Given the description of an element on the screen output the (x, y) to click on. 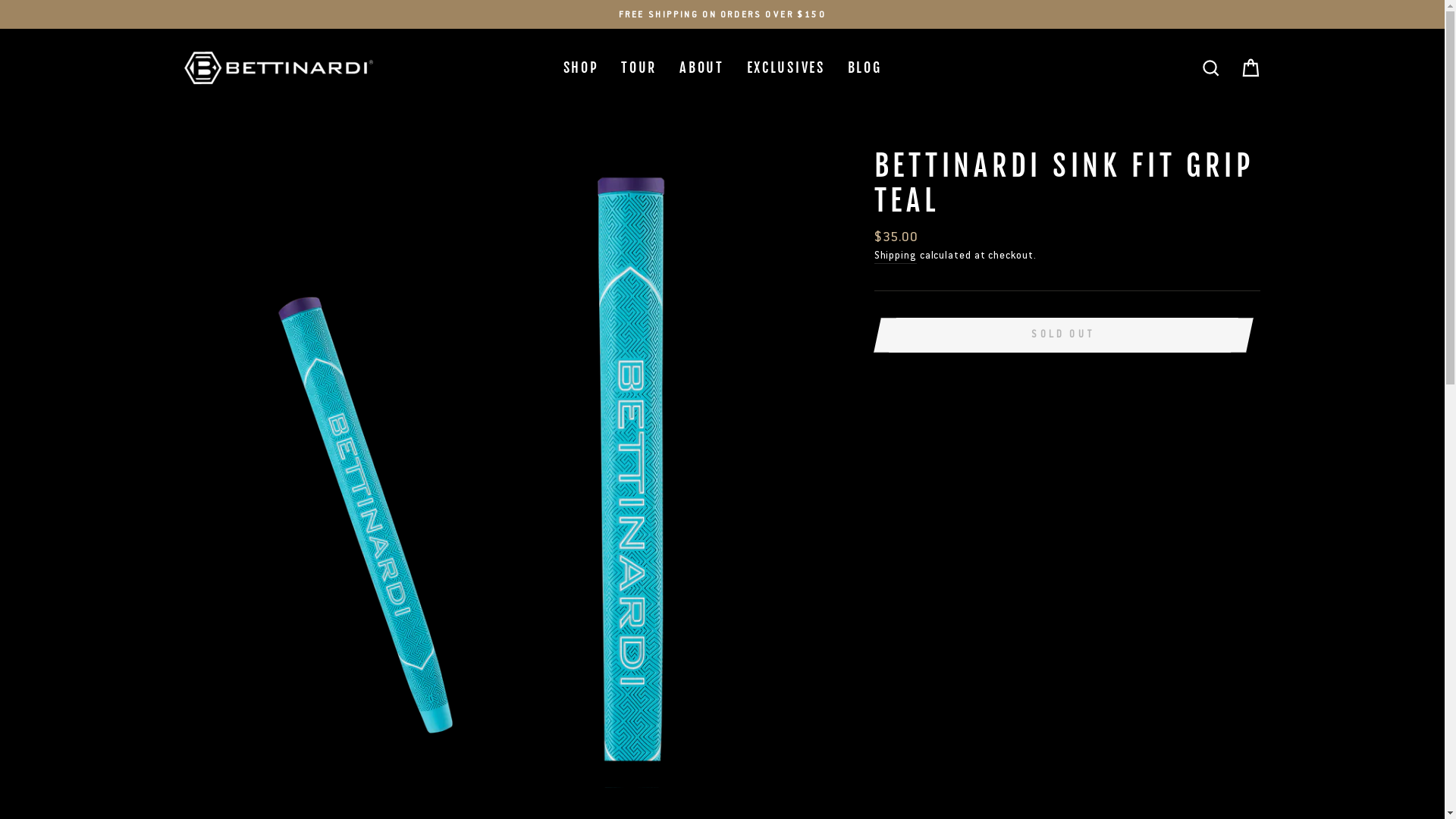
Skip to content Element type: text (0, 0)
SHOP Element type: text (581, 67)
EXCLUSIVES Element type: text (785, 67)
Shipping Element type: text (895, 255)
SEARCH Element type: text (1210, 67)
ABOUT Element type: text (701, 67)
CART Element type: text (1249, 67)
TOUR Element type: text (638, 67)
SOLD OUT Element type: text (1063, 334)
BLOG Element type: text (864, 67)
